Given the description of an element on the screen output the (x, y) to click on. 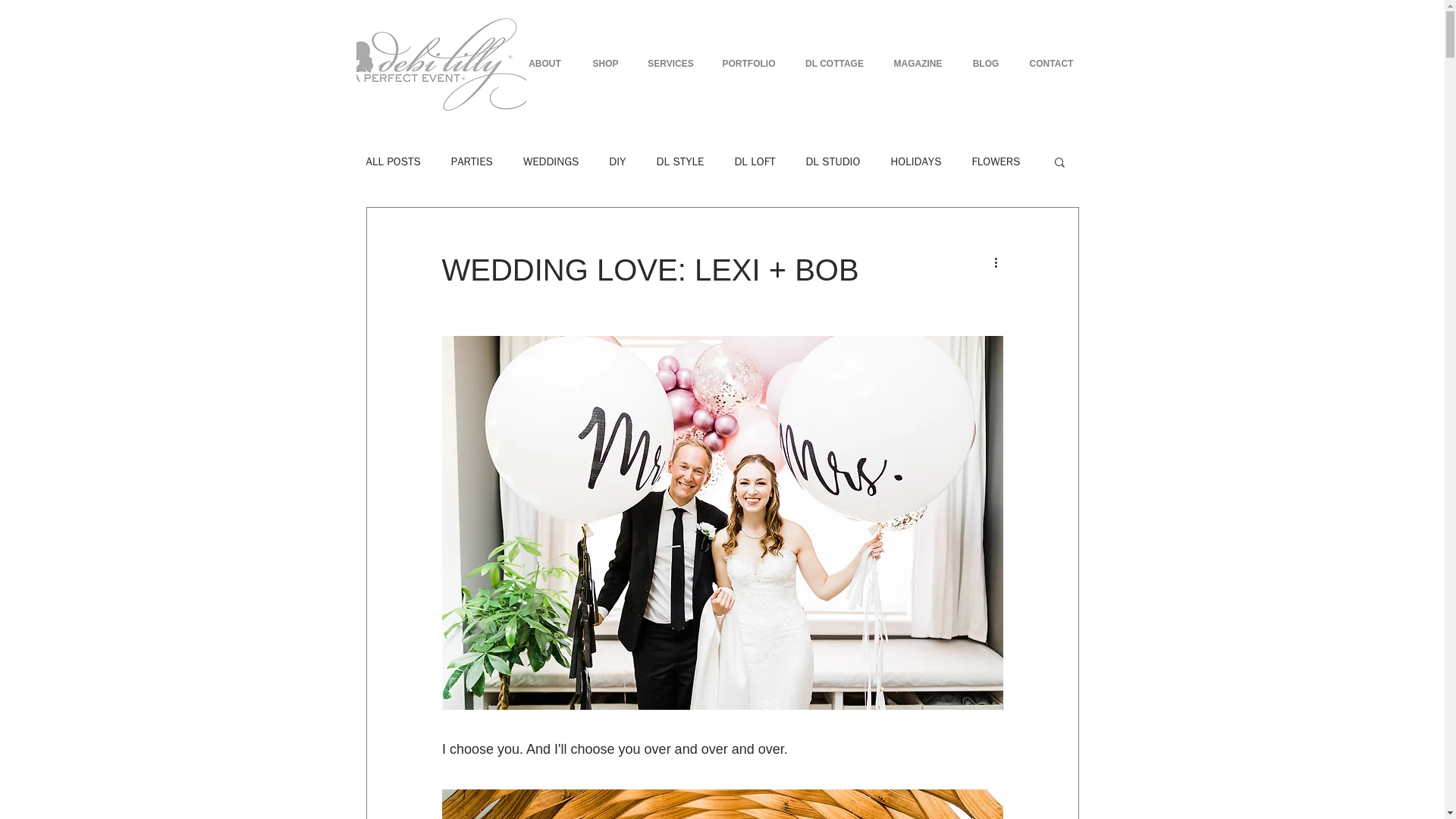
HOLIDAYS (914, 161)
CONTACT (1051, 63)
DL STUDIO (832, 161)
WEDDINGS (550, 161)
DL COTTAGE (833, 63)
DL LOFT (753, 161)
FLOWERS (996, 161)
ABOUT (544, 63)
SERVICES (669, 63)
BLOG (984, 63)
